Given the description of an element on the screen output the (x, y) to click on. 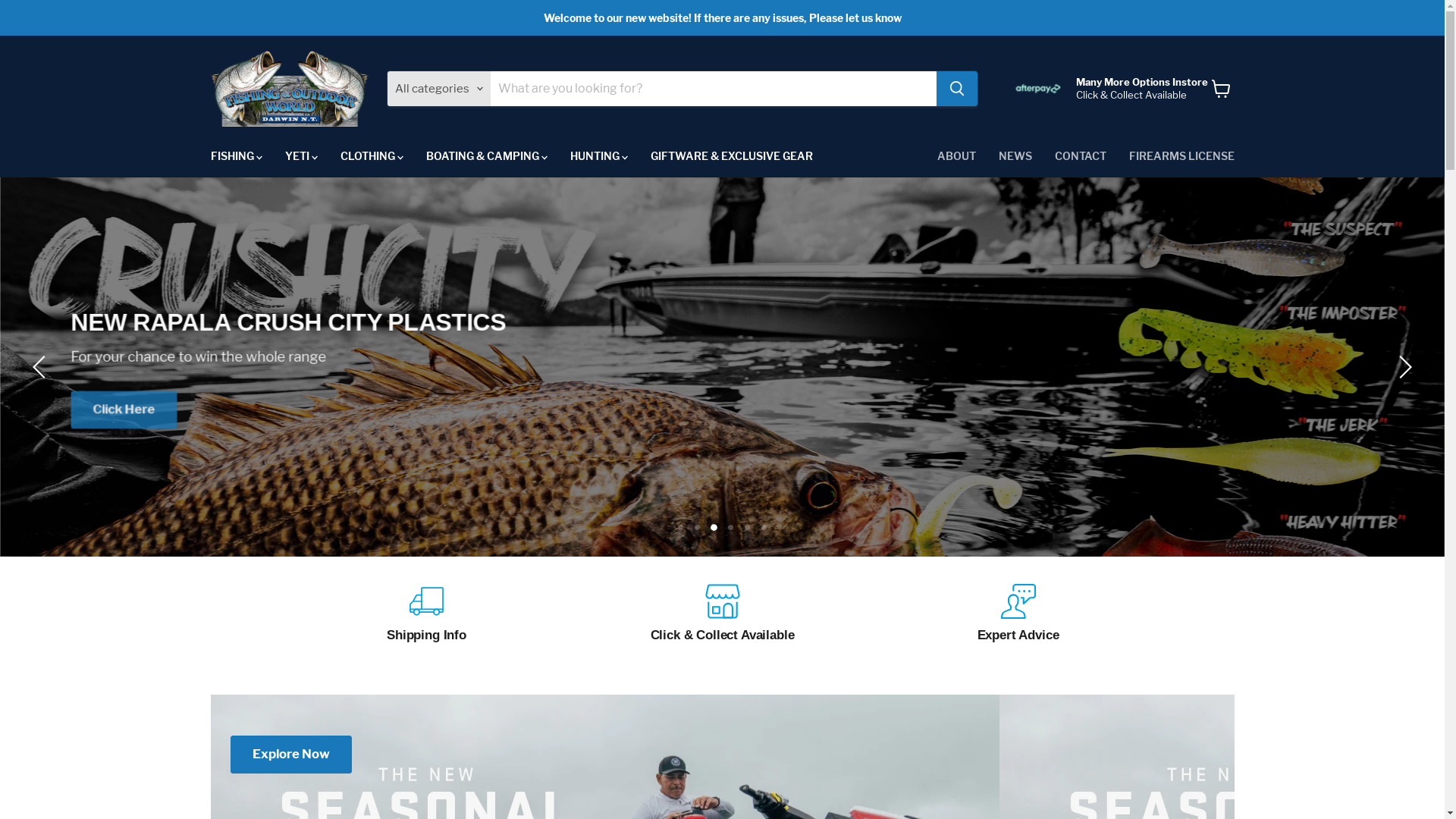
GIFTWARE & EXCLUSIVE GEAR Element type: text (730, 155)
CONTACT Element type: text (1080, 155)
View cart Element type: text (1221, 88)
Slide 2 Element type: text (696, 526)
Slide 4 Element type: text (730, 527)
NEWS Element type: text (1015, 155)
Slide 5 Element type: text (746, 527)
Slide 3 Element type: text (713, 527)
Learn More Element type: text (722, 404)
FIREARMS LICENSE Element type: text (1181, 155)
Many More Options Instore
Click & Collect Available Element type: text (1107, 88)
Slide 1 Element type: text (680, 527)
ABOUT Element type: text (955, 155)
Slide 6 Element type: text (763, 527)
